Given the description of an element on the screen output the (x, y) to click on. 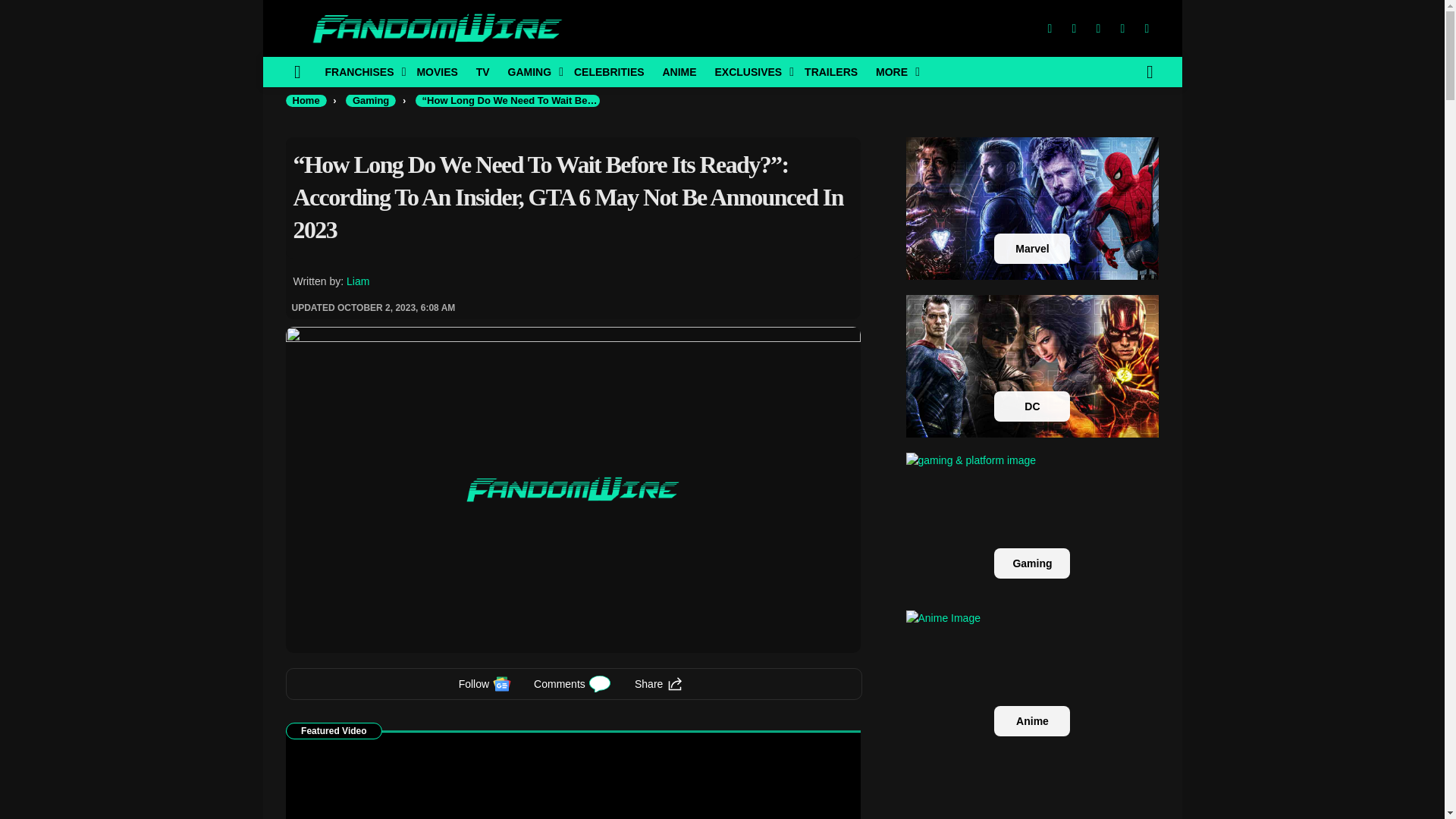
EXCLUSIVES (749, 71)
GAMING (532, 71)
FRANCHISES (361, 71)
CELEBRITIES (609, 71)
TV (482, 71)
TRAILERS (830, 71)
MOVIES (436, 71)
YT (1146, 28)
ANIME (678, 71)
LinkedIn (1121, 28)
